Given the description of an element on the screen output the (x, y) to click on. 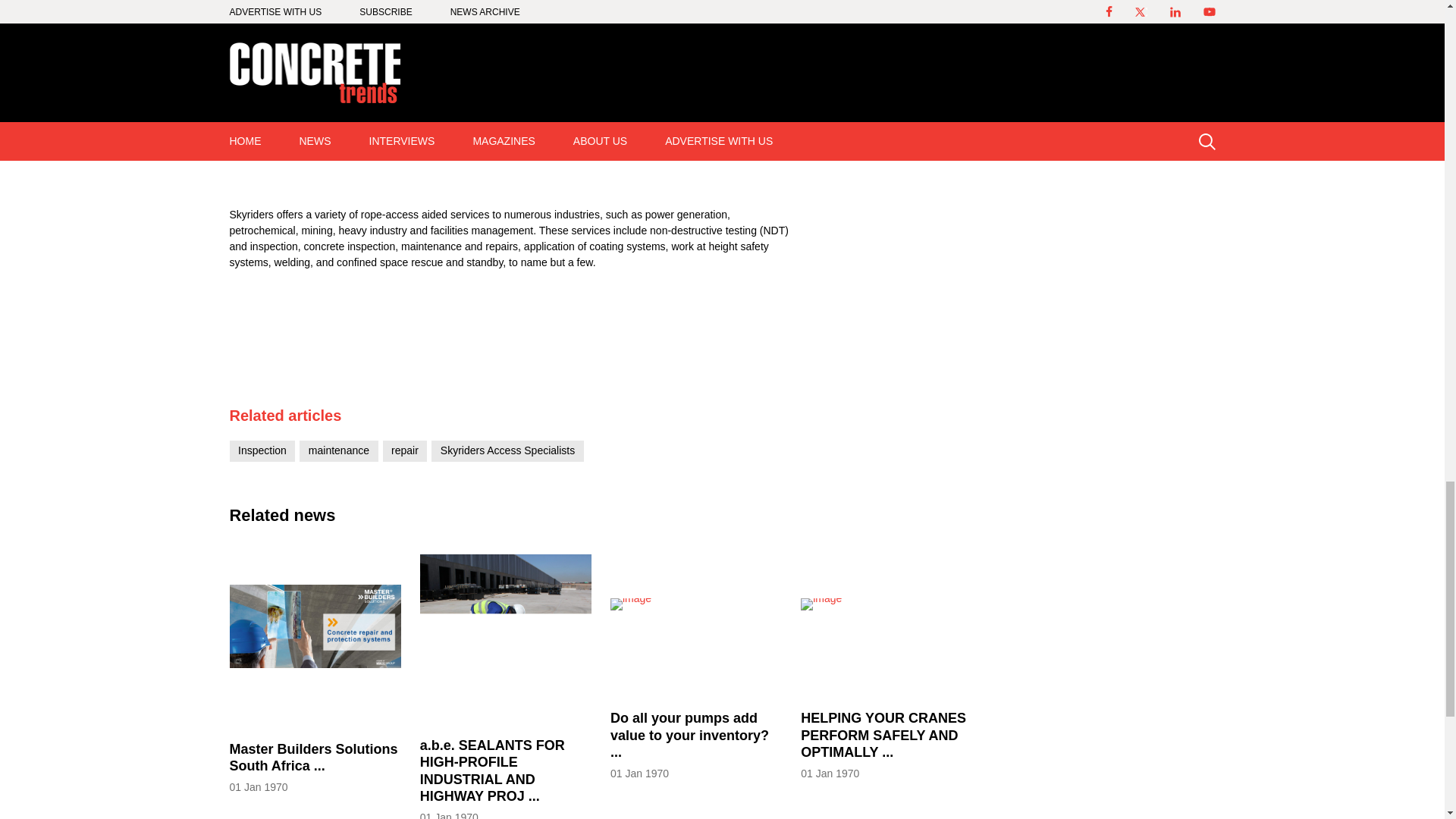
Do all your pumps add value to your inventory? ... (695, 744)
Inspection (262, 451)
Master Builders Solutions South Africa ... (314, 767)
repair (405, 451)
maintenance (338, 451)
Skyriders Access Specialists (508, 451)
HELPING YOUR CRANES PERFORM SAFELY AND OPTIMALLY ... (886, 744)
